Given the description of an element on the screen output the (x, y) to click on. 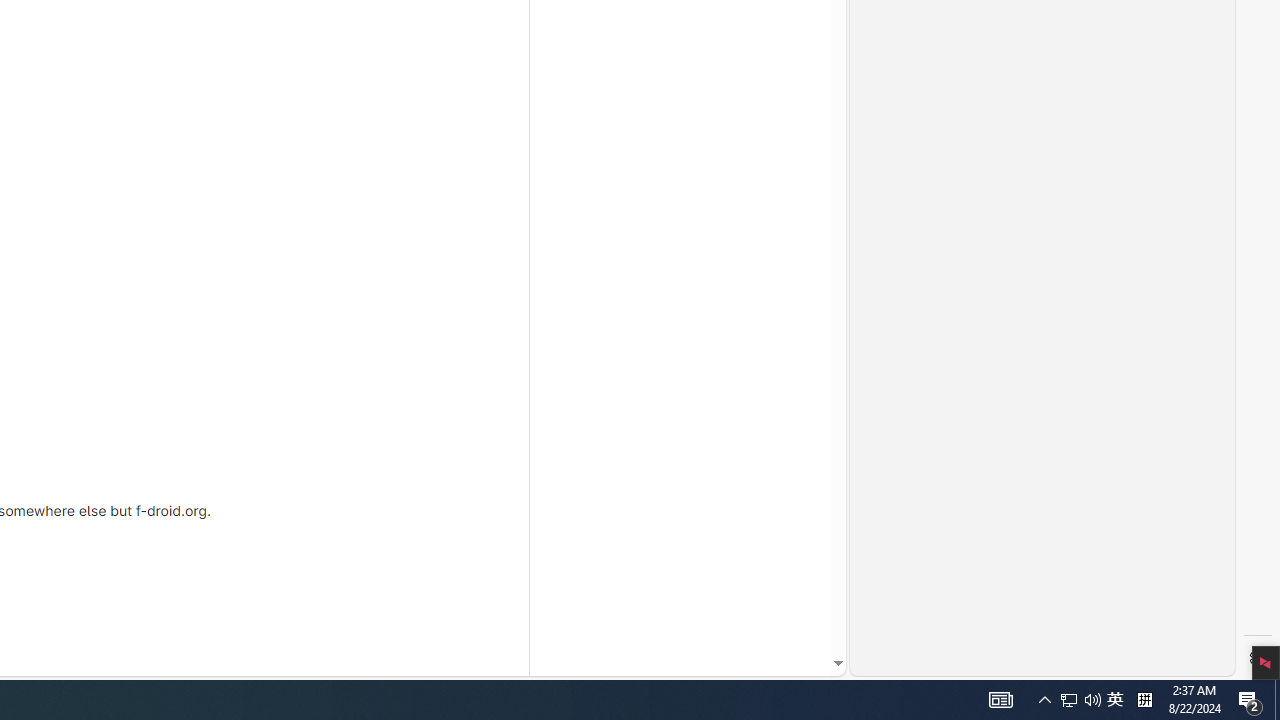
Action Center, 2 new notifications (1250, 699)
Show desktop (1277, 699)
Tray Input Indicator - Chinese (Simplified, China) (1069, 699)
Notification Chevron (1115, 699)
AutomationID: 4105 (1144, 699)
Q2790: 100% (1044, 699)
User Promoted Notification Area (1000, 699)
